Given the description of an element on the screen output the (x, y) to click on. 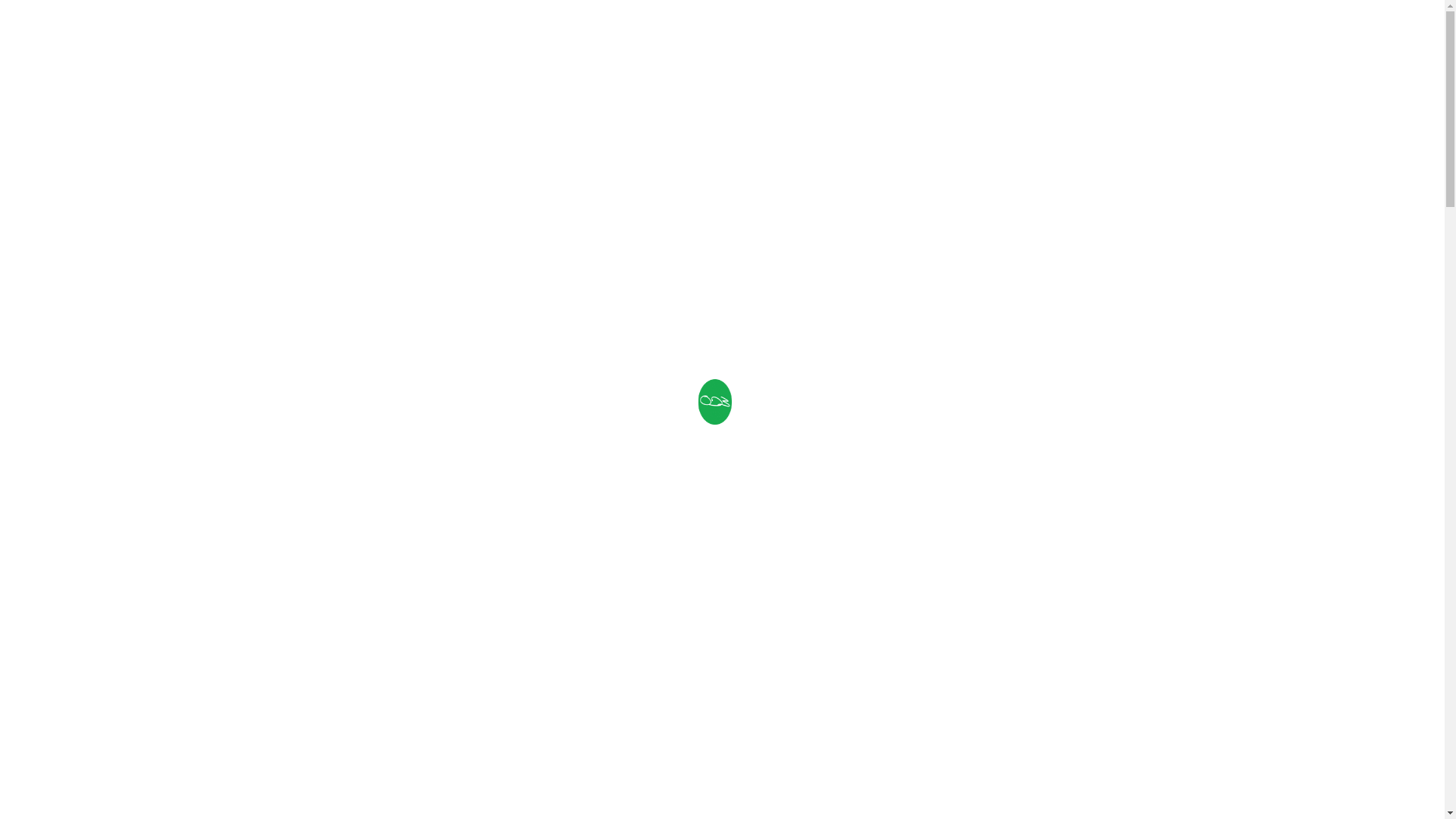
Our Business Element type: text (686, 37)
News Element type: text (1008, 37)
Contact Us Element type: text (485, 804)
Call Us Element type: text (369, 804)
reach us for more details Element type: text (659, 770)
Home Element type: text (594, 37)
biggest recycling companies Element type: text (603, 557)
Eco Accreditation Element type: text (903, 37)
Contact Us Element type: text (1092, 37)
Services Element type: text (787, 37)
